Given the description of an element on the screen output the (x, y) to click on. 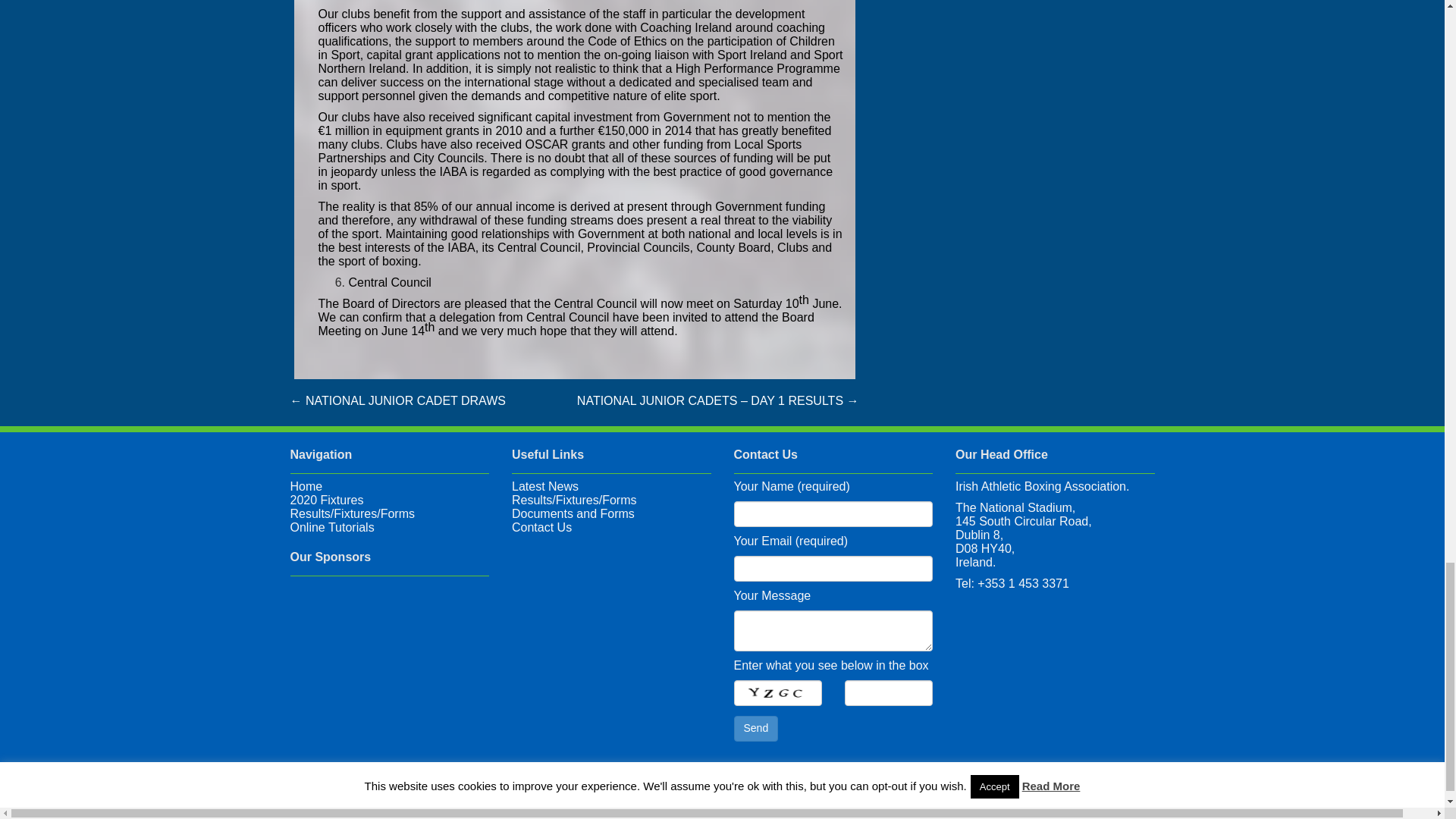
Send (755, 728)
